Given the description of an element on the screen output the (x, y) to click on. 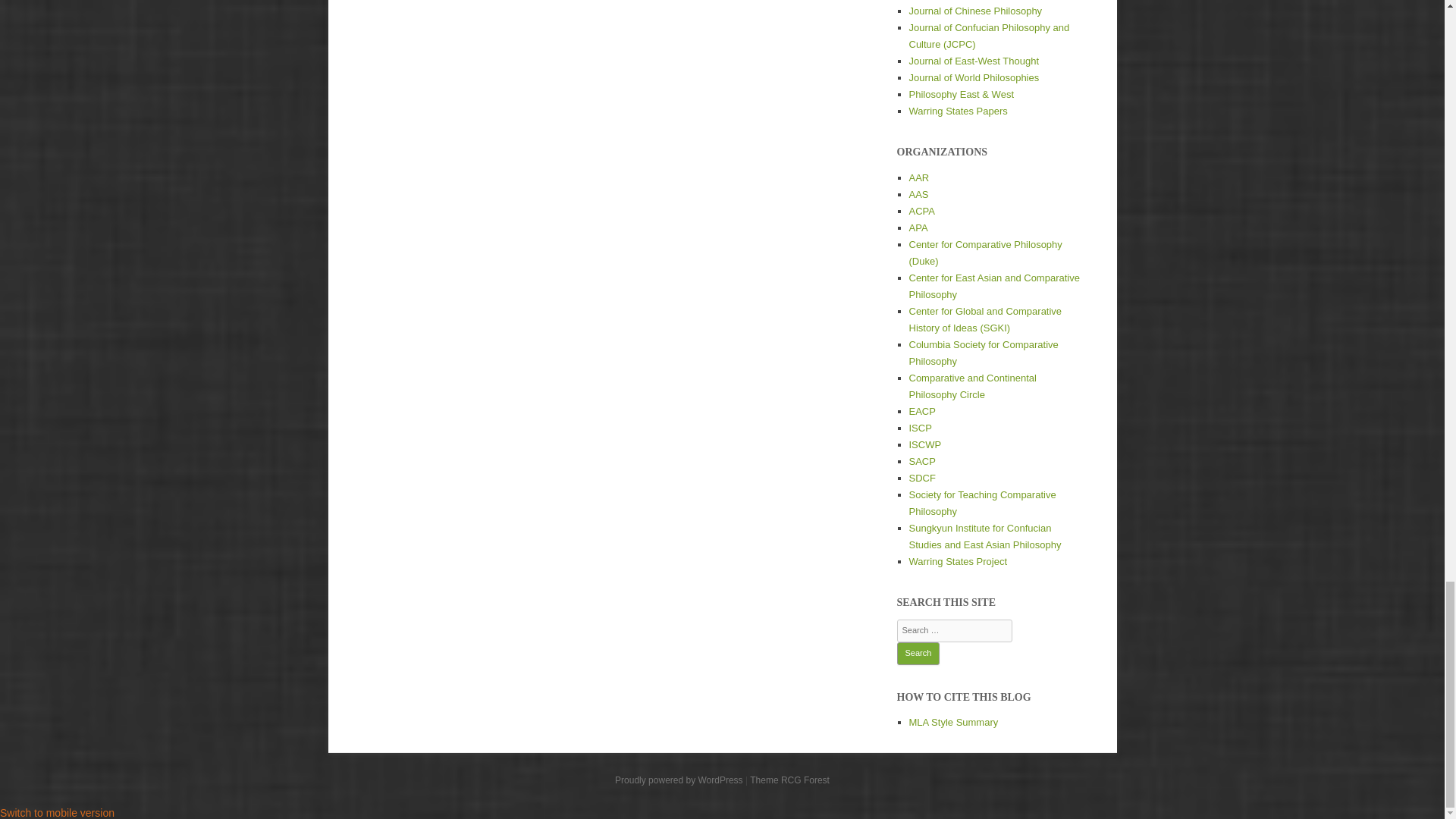
Search (917, 653)
American Academy of Religion (918, 177)
Search (917, 653)
Semantic Personal Publishing Platform (678, 779)
Sinological Development Charitable Foundation (921, 478)
European Association for Chinese Philosophy (921, 410)
